Given the description of an element on the screen output the (x, y) to click on. 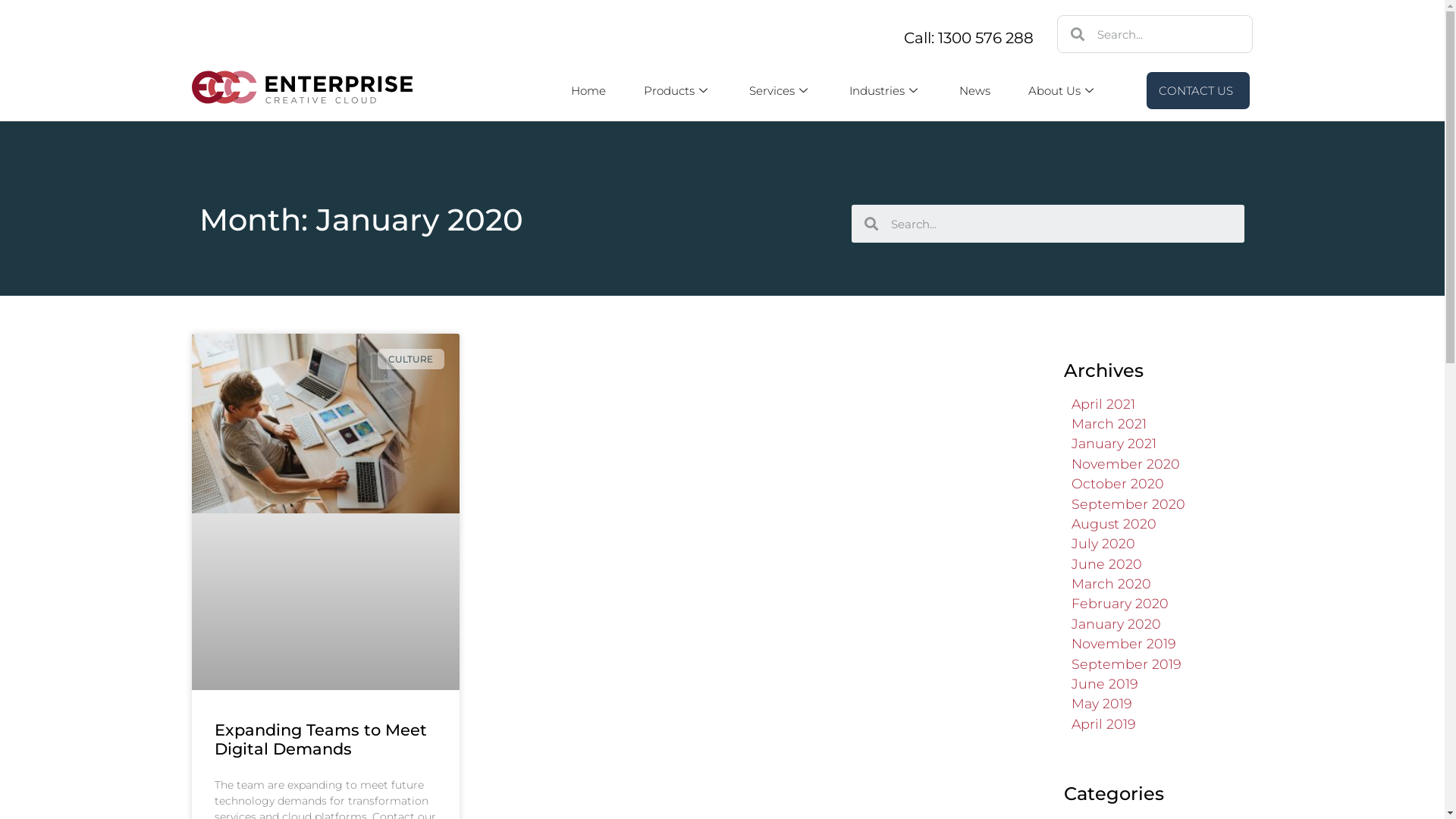
March 2020 Element type: text (1110, 583)
September 2019 Element type: text (1125, 663)
Enterprise Creative Cloud Element type: hover (301, 86)
Products Element type: text (677, 90)
Services Element type: text (780, 90)
Home Element type: text (588, 90)
November 2019 Element type: text (1122, 643)
August 2020 Element type: text (1112, 523)
May 2019 Element type: text (1100, 703)
Search Element type: hover (1168, 33)
October 2020 Element type: text (1116, 483)
June 2019 Element type: text (1103, 683)
September 2020 Element type: text (1127, 503)
June 2020 Element type: text (1105, 563)
March 2021 Element type: text (1107, 423)
Search Element type: hover (1061, 223)
January 2021 Element type: text (1112, 443)
Industries Element type: text (885, 90)
July 2020 Element type: text (1102, 543)
Expanding Teams to Meet Digital Demands Element type: text (319, 739)
April 2019 Element type: text (1102, 723)
April 2021 Element type: text (1102, 403)
CONTACT US Element type: text (1197, 90)
News Element type: text (974, 90)
February 2020 Element type: text (1118, 603)
January 2020 Element type: text (1115, 623)
November 2020 Element type: text (1124, 463)
About Us Element type: text (1062, 90)
